Given the description of an element on the screen output the (x, y) to click on. 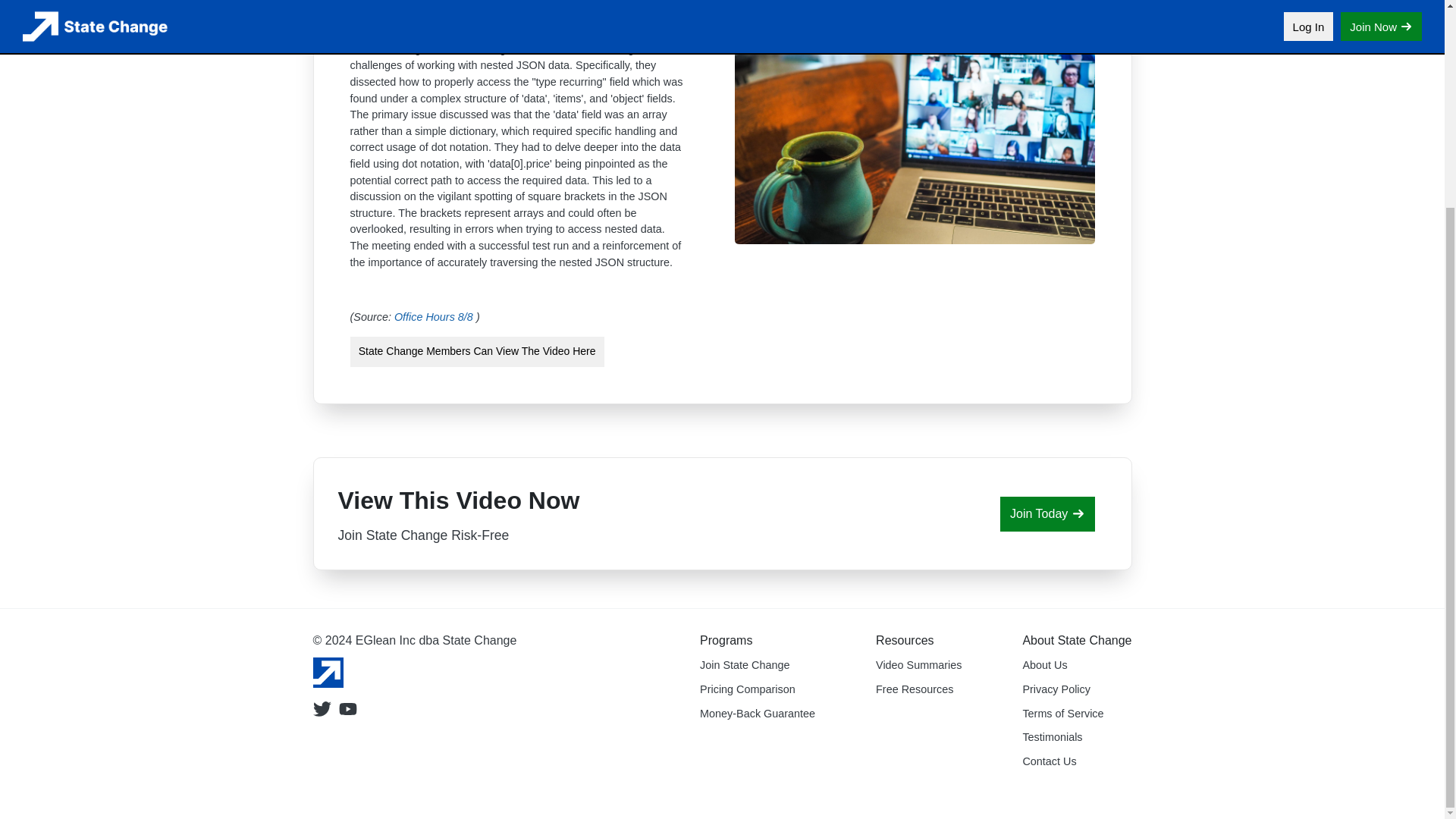
Join Today (1047, 513)
Contact Us (1048, 760)
State Change Members Can View The Video Here (477, 351)
Money-Back Guarantee (757, 713)
Video Summaries (918, 664)
About Us (1044, 664)
Free Resources (914, 688)
Join State Change (744, 664)
Pricing Comparison (747, 688)
Terms of Service (1062, 713)
